Given the description of an element on the screen output the (x, y) to click on. 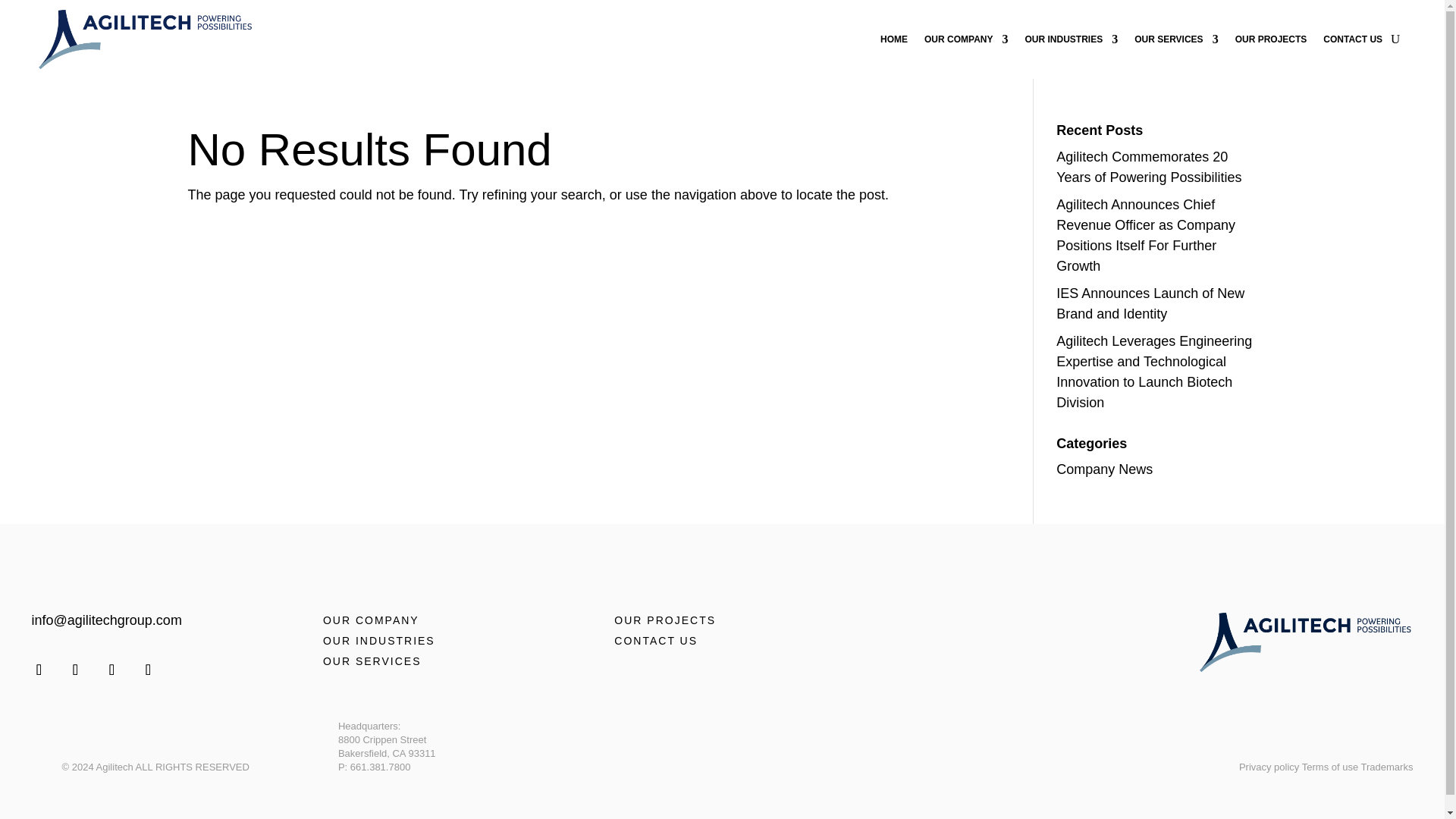
Follow on X (75, 669)
OUR PROJECTS (1270, 39)
Follow on Facebook (39, 669)
Follow on LinkedIn (112, 669)
OUR COMPANY (965, 39)
OUR INDUSTRIES (1071, 39)
CONTACT US (1352, 39)
Follow on Youtube (148, 669)
OUR SERVICES (1175, 39)
